Given the description of an element on the screen output the (x, y) to click on. 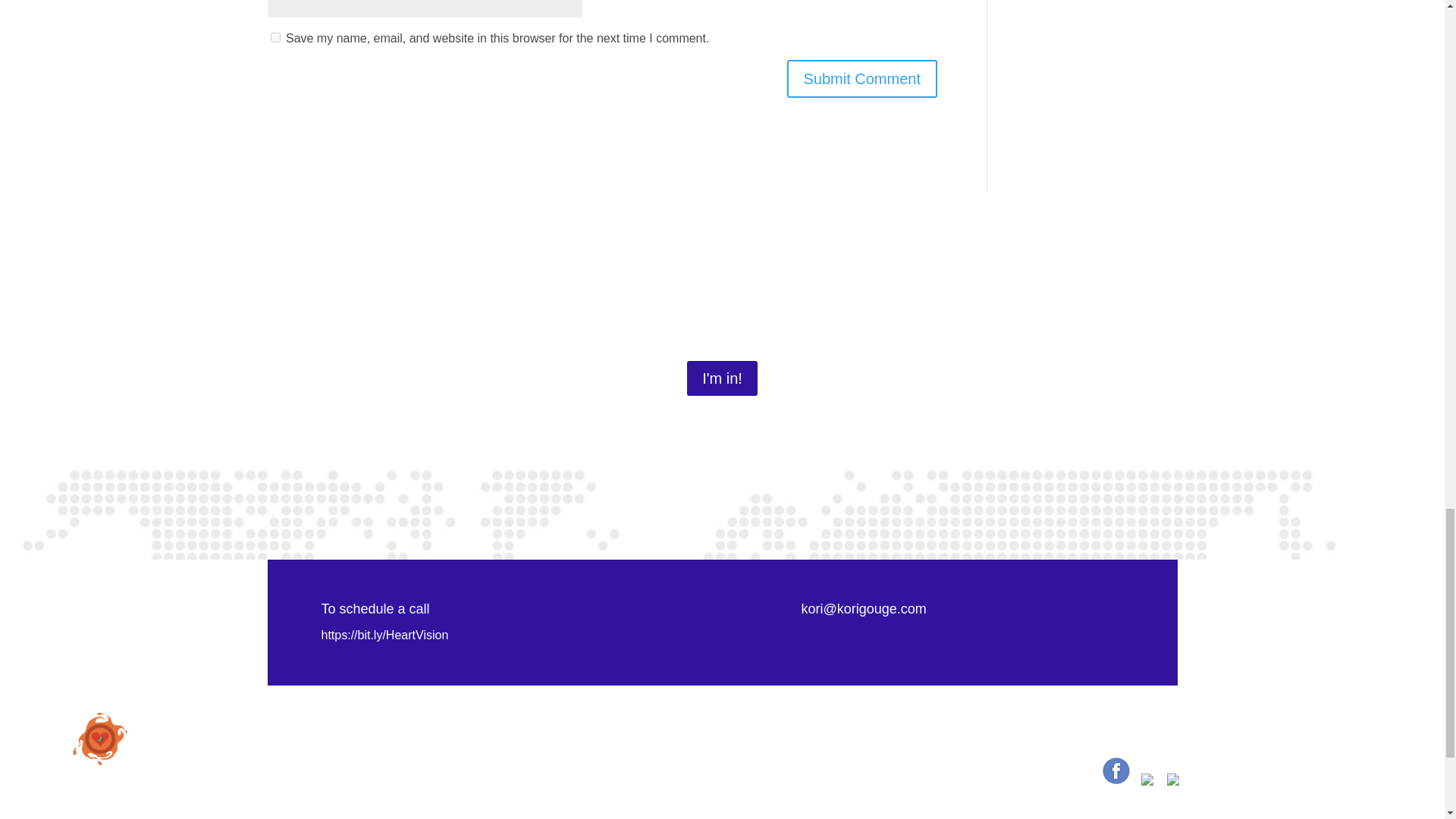
yes (274, 37)
Submit Comment (862, 78)
Submit Comment (862, 78)
